Given the description of an element on the screen output the (x, y) to click on. 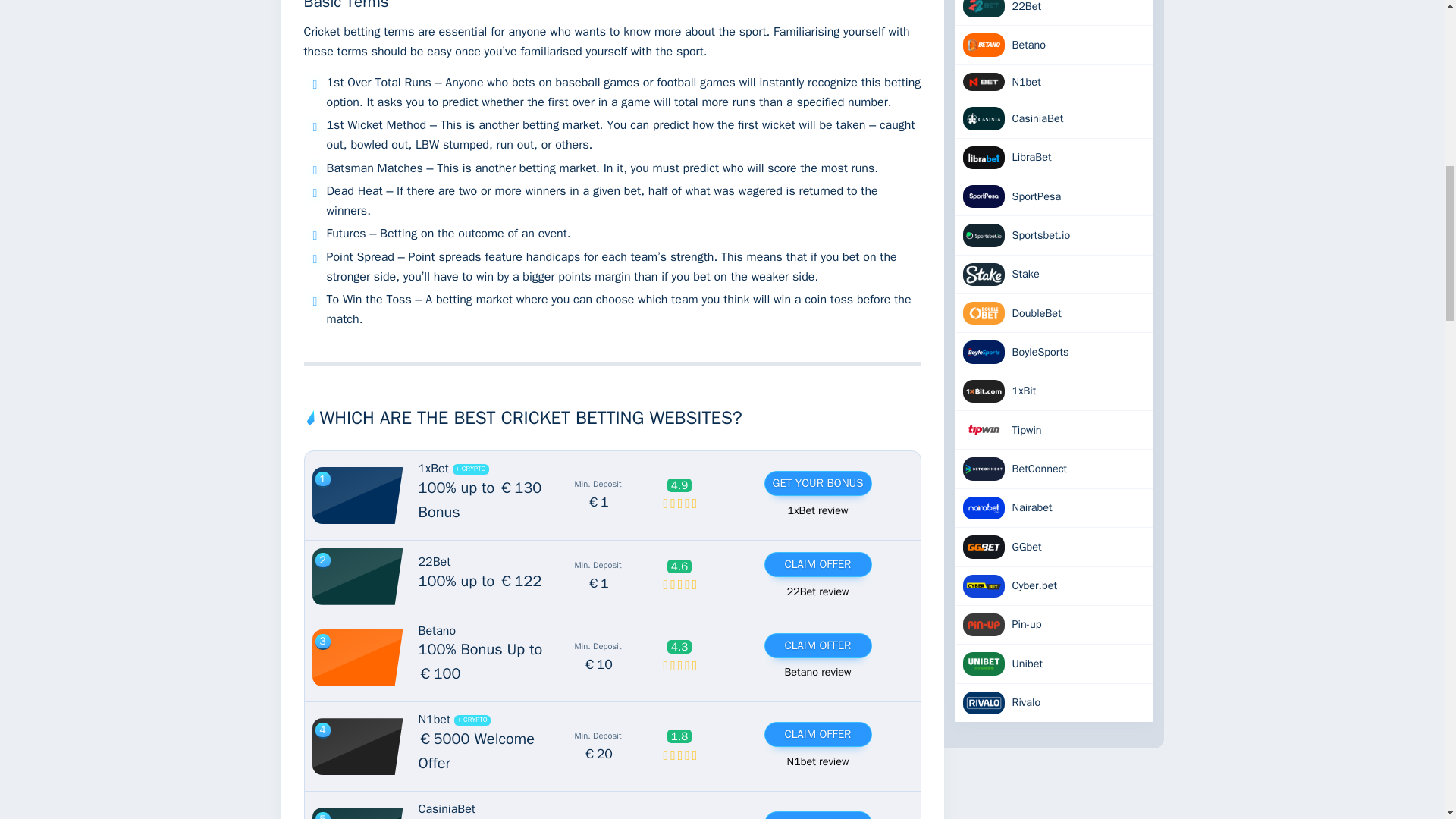
Betano review (818, 671)
22Bet review (818, 590)
1xBet review (818, 510)
CLAIM OFFER (817, 564)
CLAIM OFFER (817, 815)
CLAIM OFFER (817, 645)
N1bet review (818, 761)
GET YOUR BONUS (817, 483)
CLAIM OFFER (817, 734)
